Given the description of an element on the screen output the (x, y) to click on. 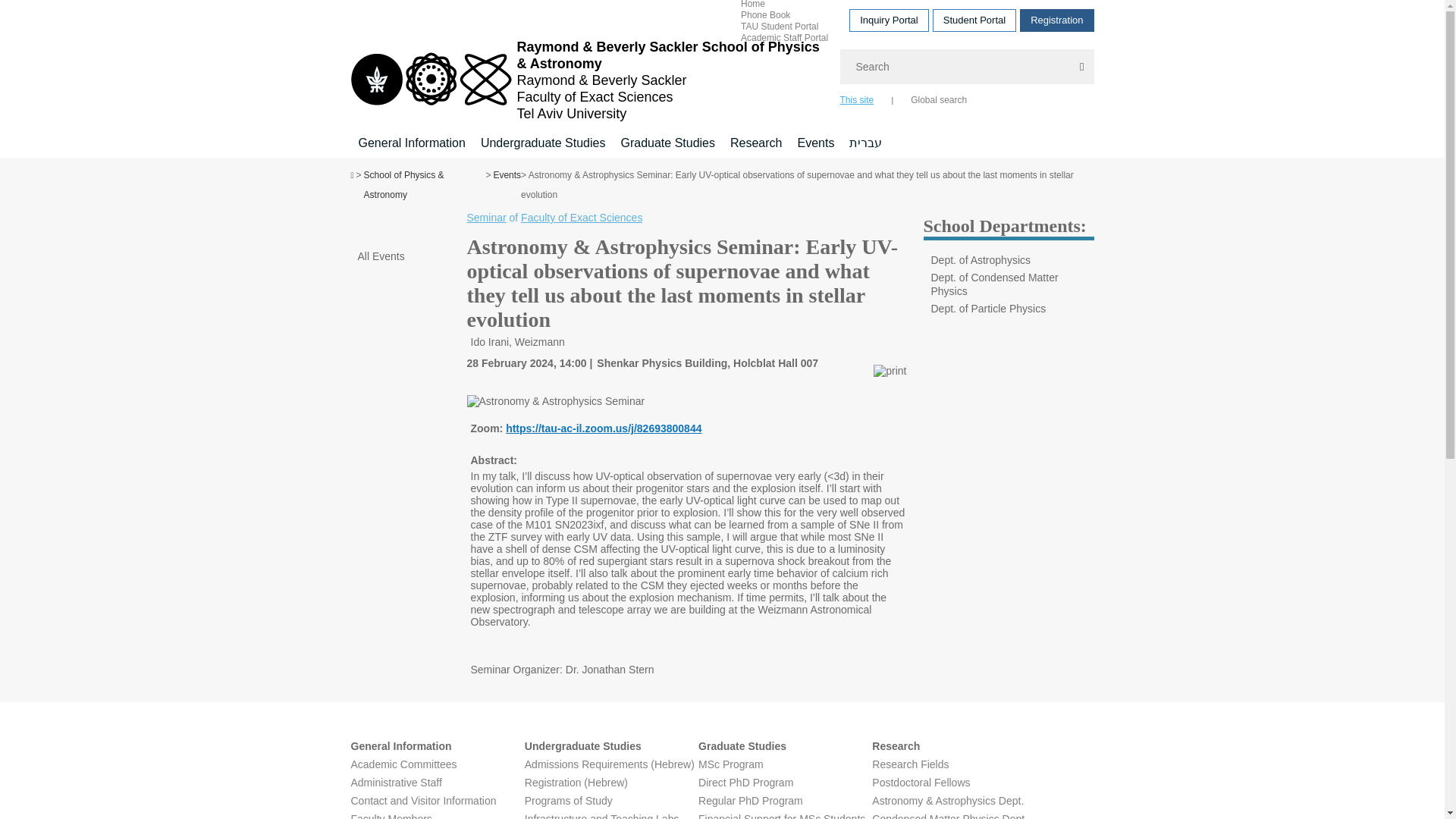
Academic Staff Portal (784, 36)
Go to homepage (587, 80)
TAU Student Portal (779, 26)
Student Portal (974, 20)
Inquiry Portal (888, 20)
Phone Book (765, 14)
Visit Registration (1056, 20)
Registration (1056, 20)
Visit Inquiry Portal (888, 20)
